Given the description of an element on the screen output the (x, y) to click on. 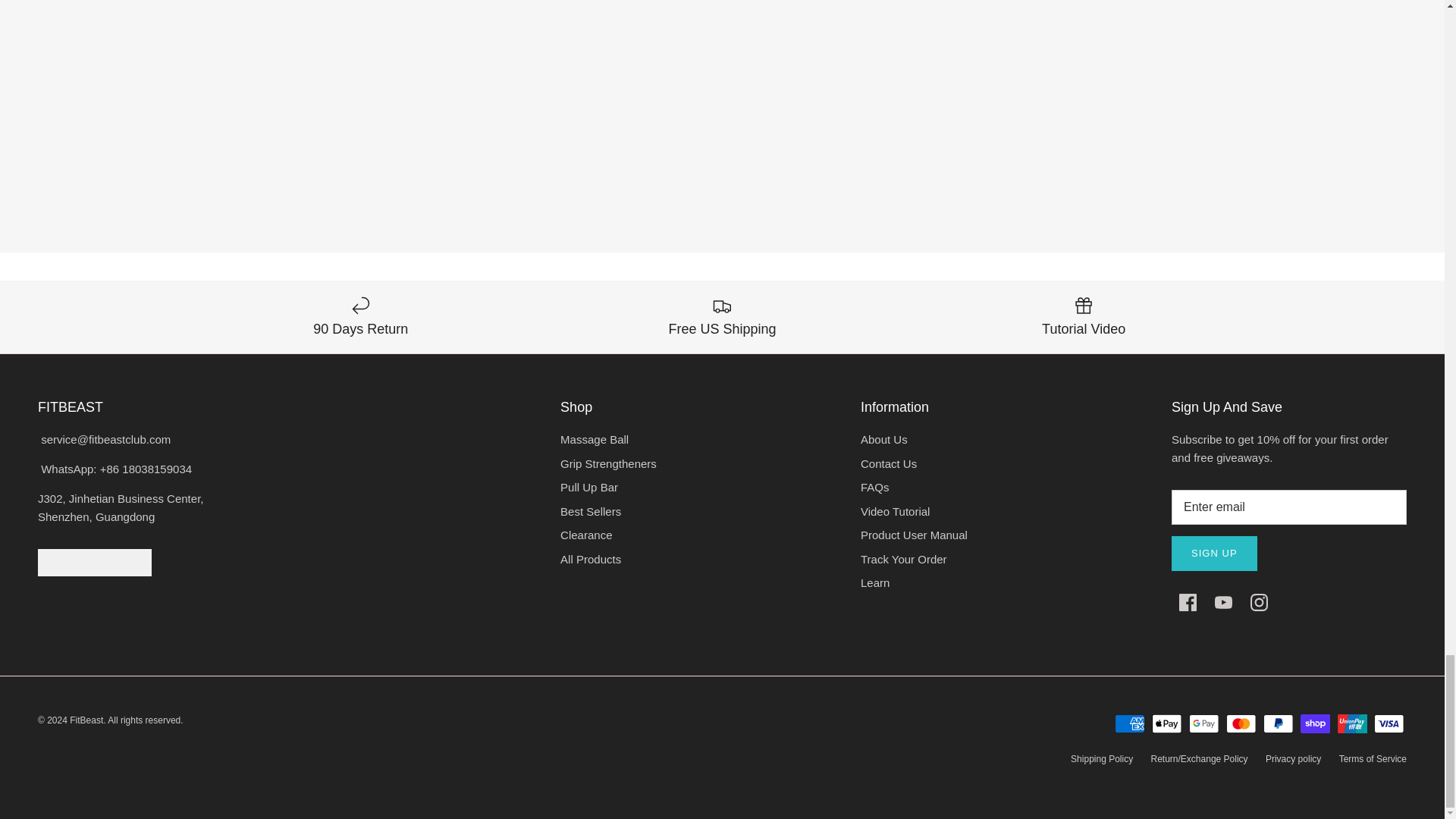
Instagram (1259, 601)
Shop Pay (1315, 723)
Apple Pay (1166, 723)
Youtube (1222, 601)
American Express (1129, 723)
PayPal (1277, 723)
Facebook (1187, 601)
Union Pay (1352, 723)
Mastercard (1240, 723)
Google Pay (1203, 723)
